Given the description of an element on the screen output the (x, y) to click on. 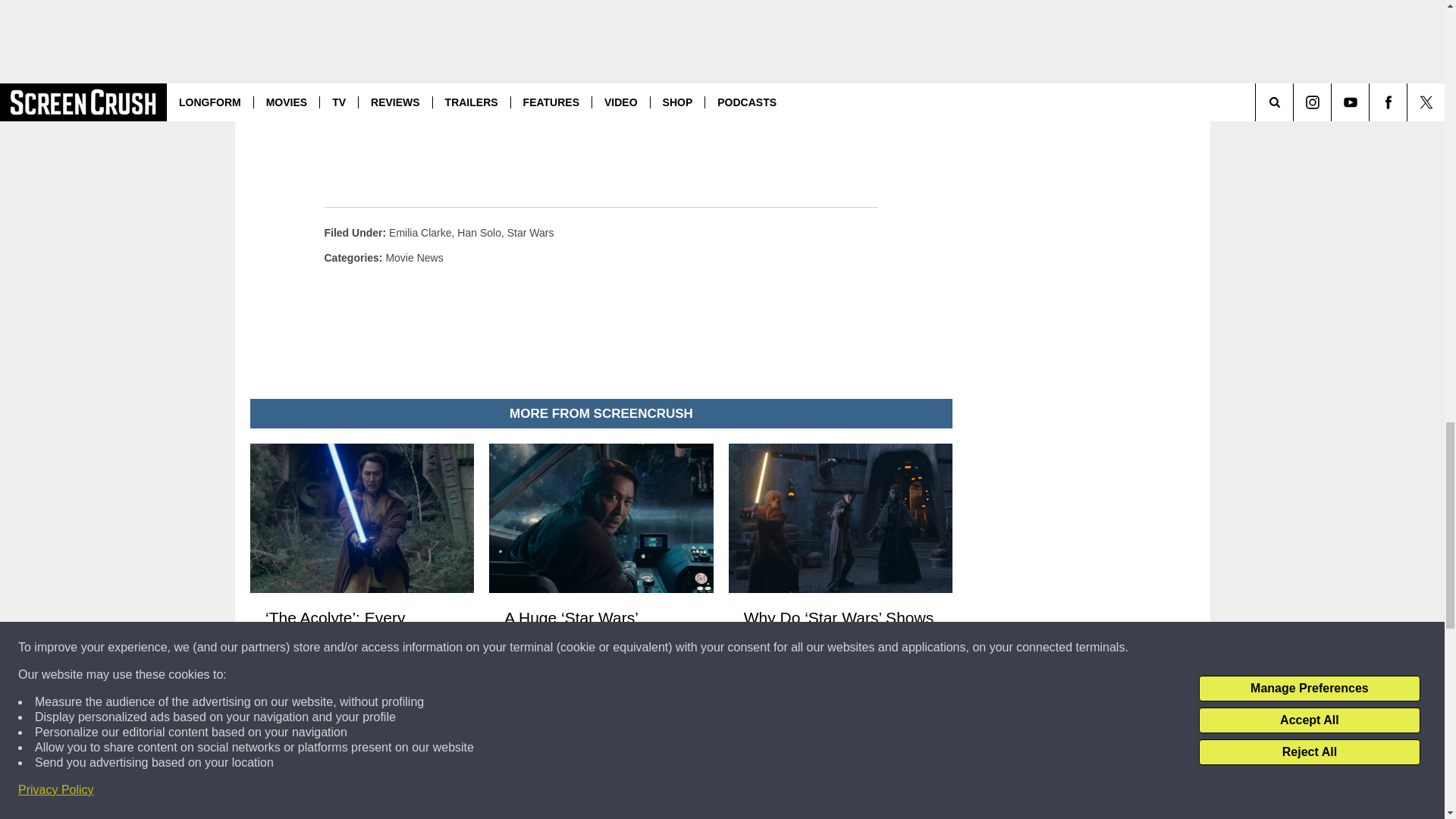
Emilia Clarke (419, 232)
Han Solo (478, 232)
Movie News (413, 257)
Star Wars (530, 232)
